Given the description of an element on the screen output the (x, y) to click on. 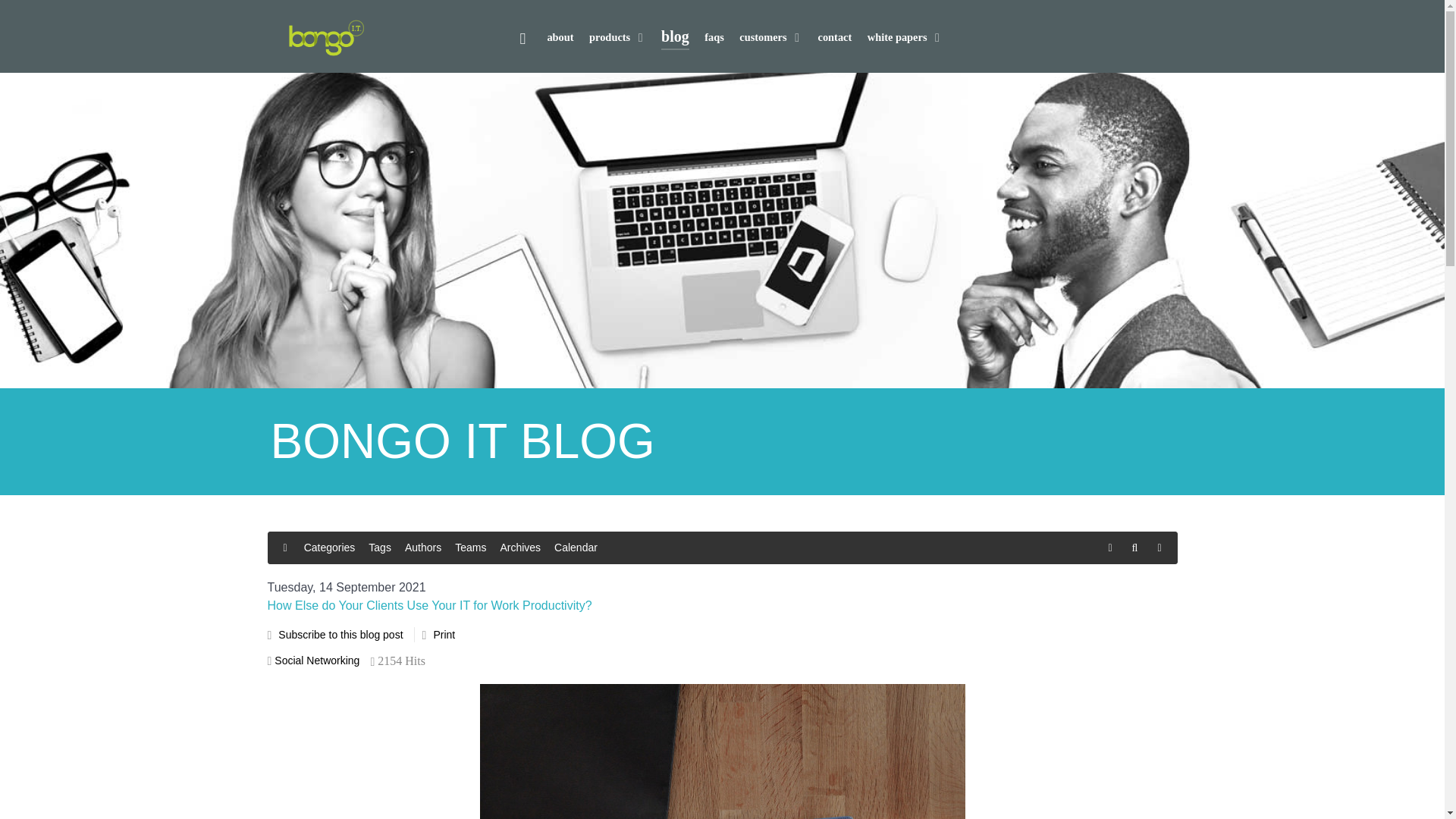
blog (674, 38)
contact (834, 38)
products (617, 38)
white papers (904, 38)
customers (770, 38)
faqs (713, 38)
pexels-thirdman-5592496 (721, 751)
about (560, 38)
Print (443, 634)
